Given the description of an element on the screen output the (x, y) to click on. 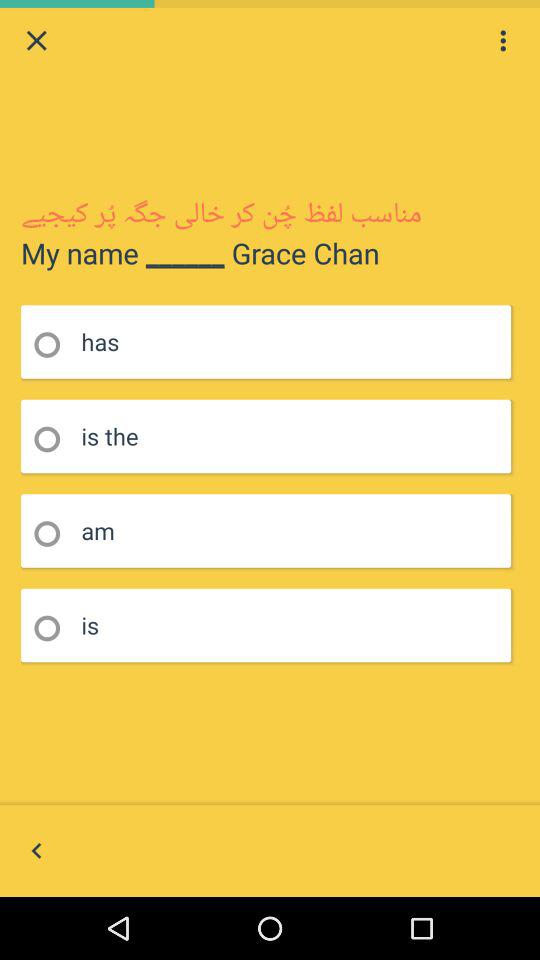
select 'am (53, 533)
